Given the description of an element on the screen output the (x, y) to click on. 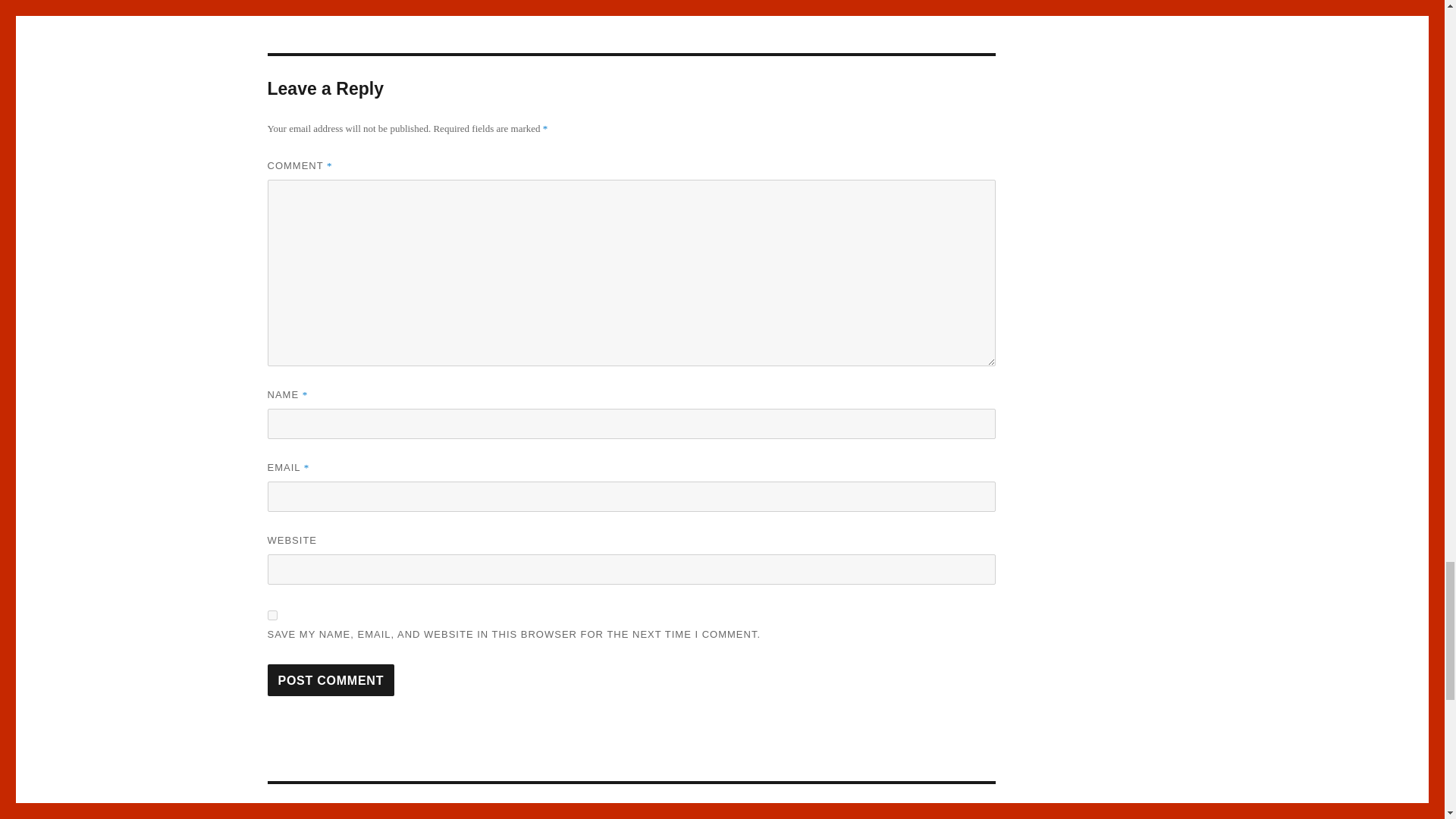
yes (271, 614)
Post Comment (330, 680)
Post Comment (330, 680)
